Given the description of an element on the screen output the (x, y) to click on. 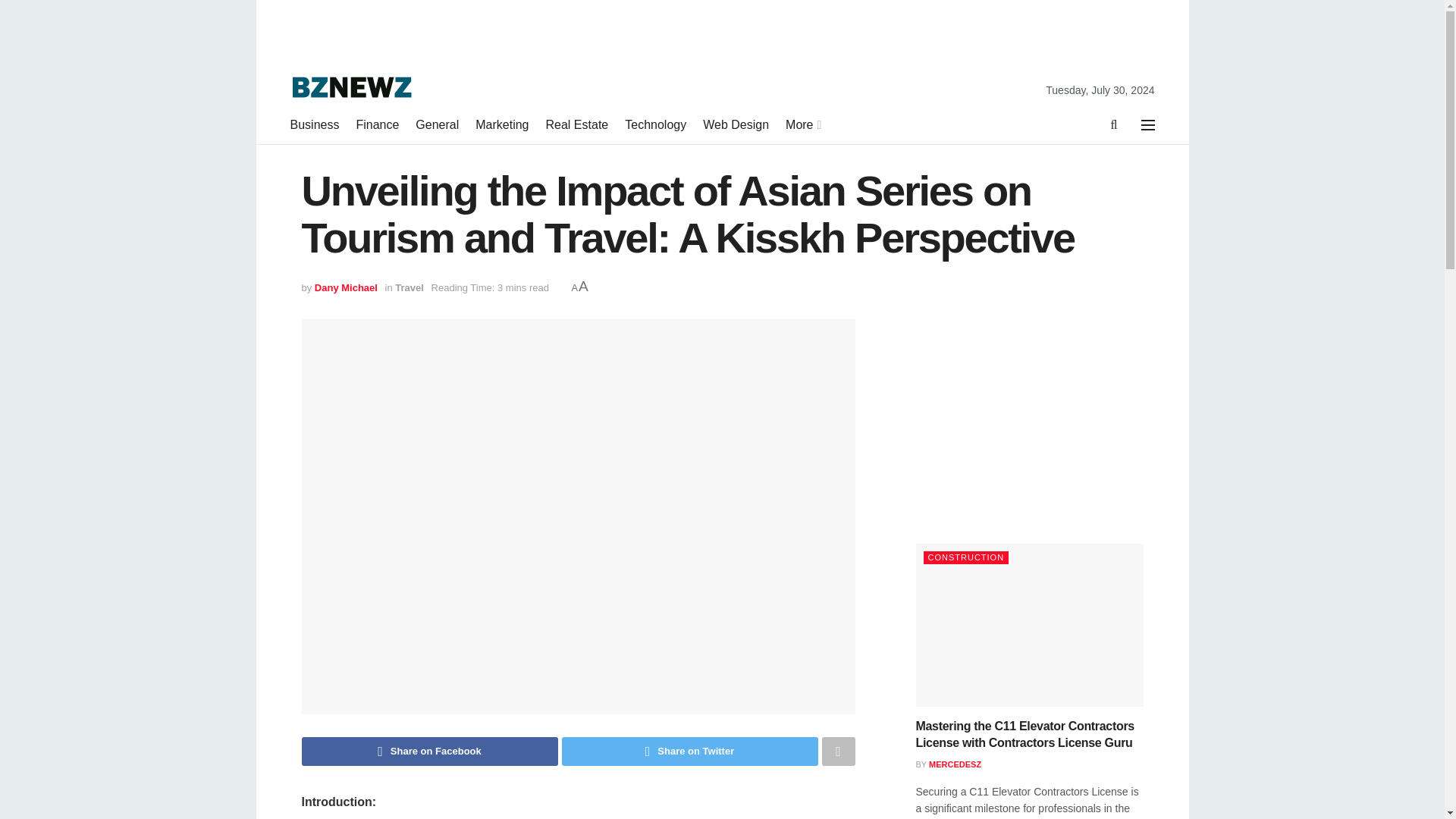
Web Design (735, 124)
Real Estate (577, 124)
Business (314, 124)
General (436, 124)
More (802, 124)
Finance (376, 124)
Marketing (502, 124)
Advertisement (1028, 413)
Technology (654, 124)
